Given the description of an element on the screen output the (x, y) to click on. 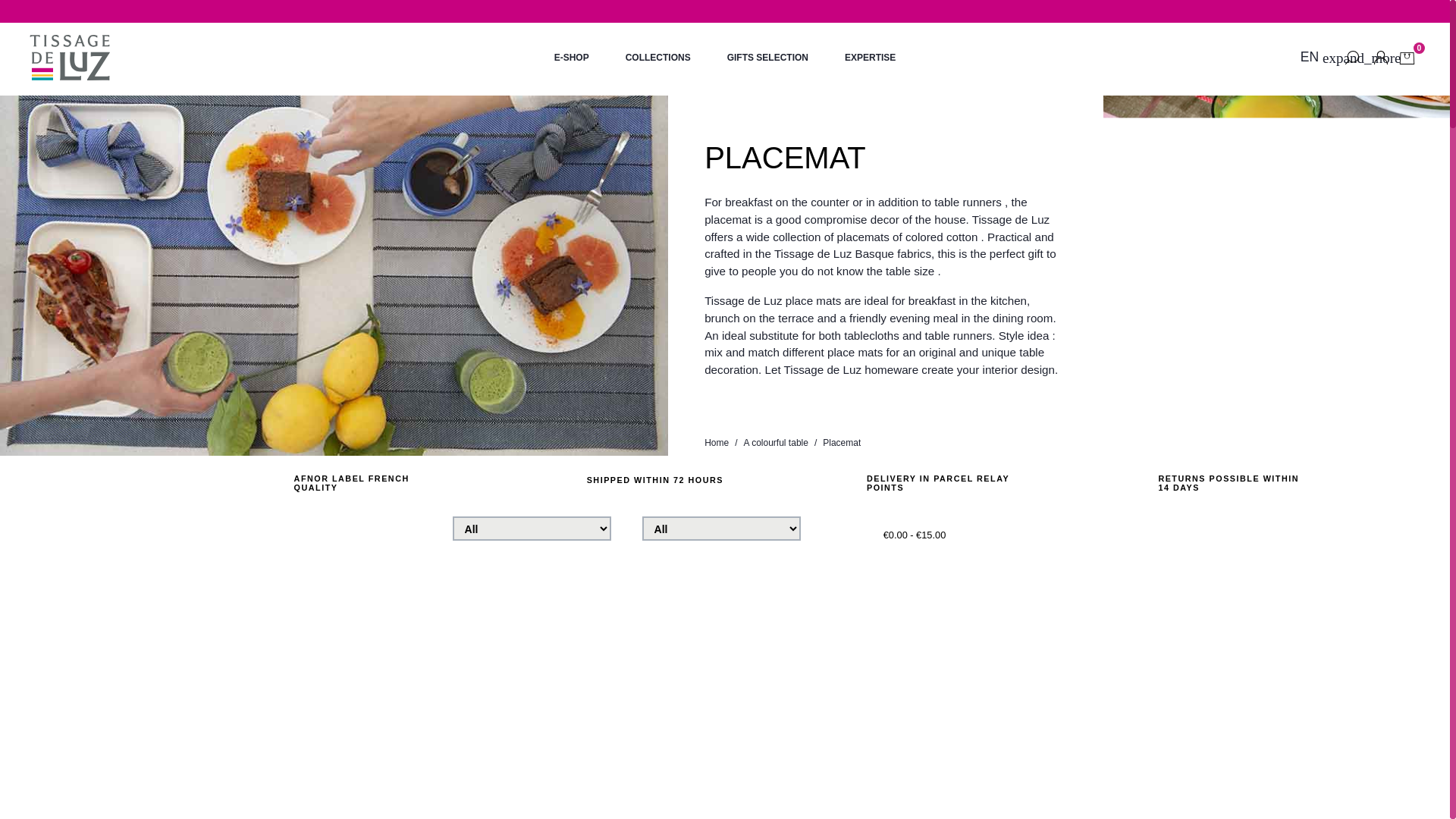
Tissage de Luz (69, 57)
E-SHOP (571, 57)
Tissage de Luz (69, 57)
Home (716, 442)
Placemat (841, 442)
A colourful table (775, 442)
